Given the description of an element on the screen output the (x, y) to click on. 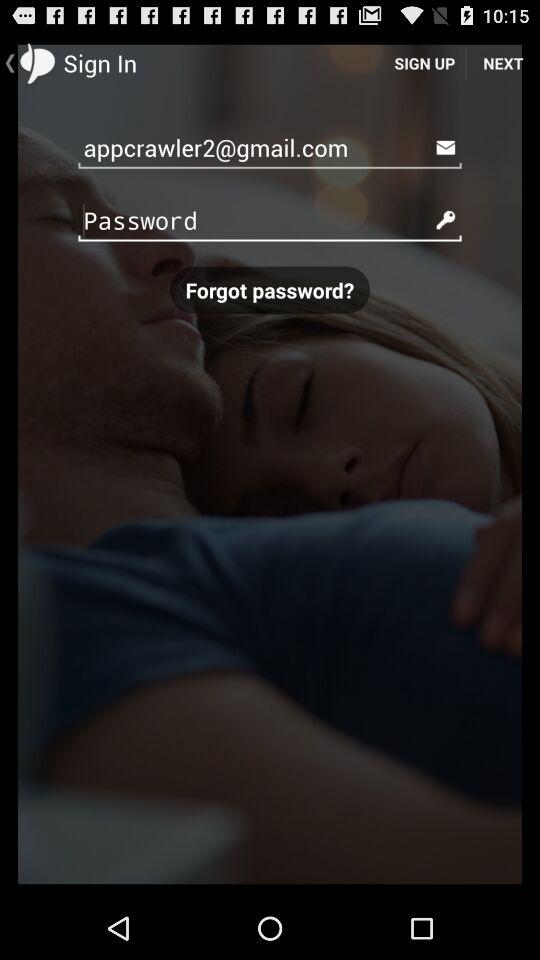
flip until forgot password? icon (269, 289)
